Given the description of an element on the screen output the (x, y) to click on. 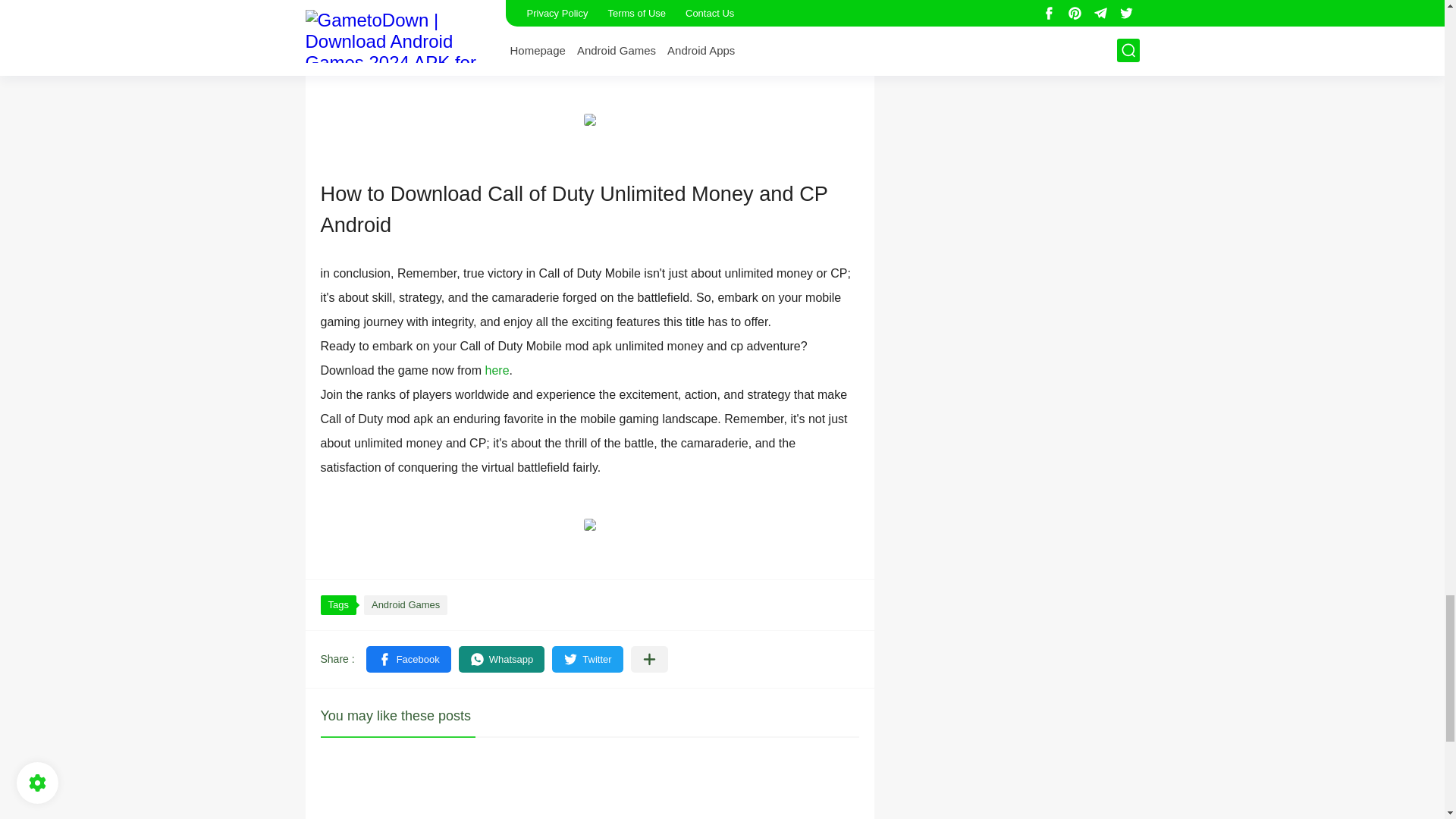
here (496, 369)
Android Games (405, 605)
Android Games (405, 605)
